Given the description of an element on the screen output the (x, y) to click on. 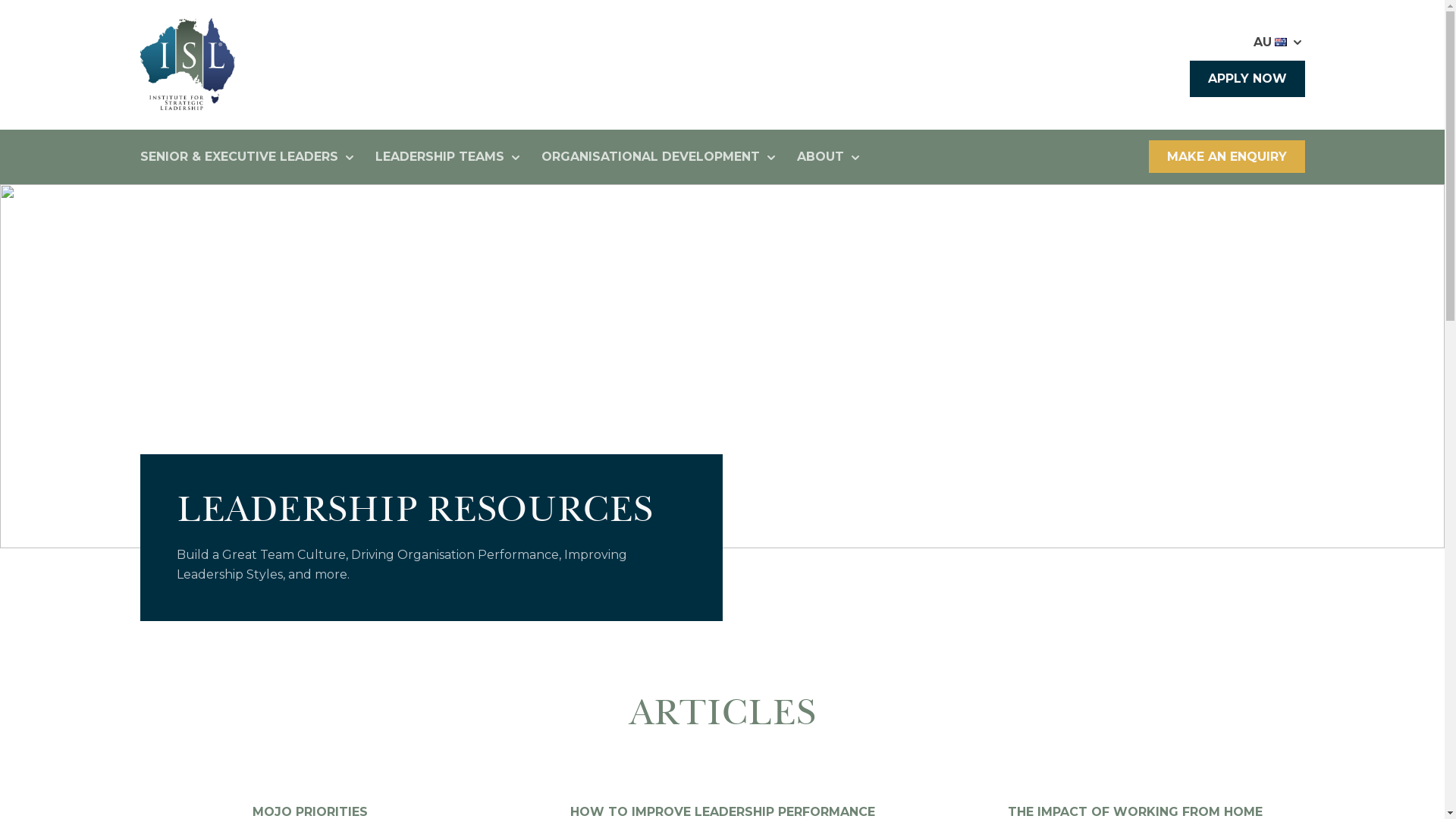
SENIOR & EXECUTIVE LEADERS Element type: text (247, 157)
ABOUT Element type: text (829, 157)
LEADERSHIP TEAMS Element type: text (448, 157)
ORGANISATIONAL DEVELOPMENT Element type: text (659, 157)
AU Element type: text (1278, 42)
APPLY NOW Element type: text (1246, 78)
MAKE AN ENQUIRY Element type: text (1226, 156)
